Given the description of an element on the screen output the (x, y) to click on. 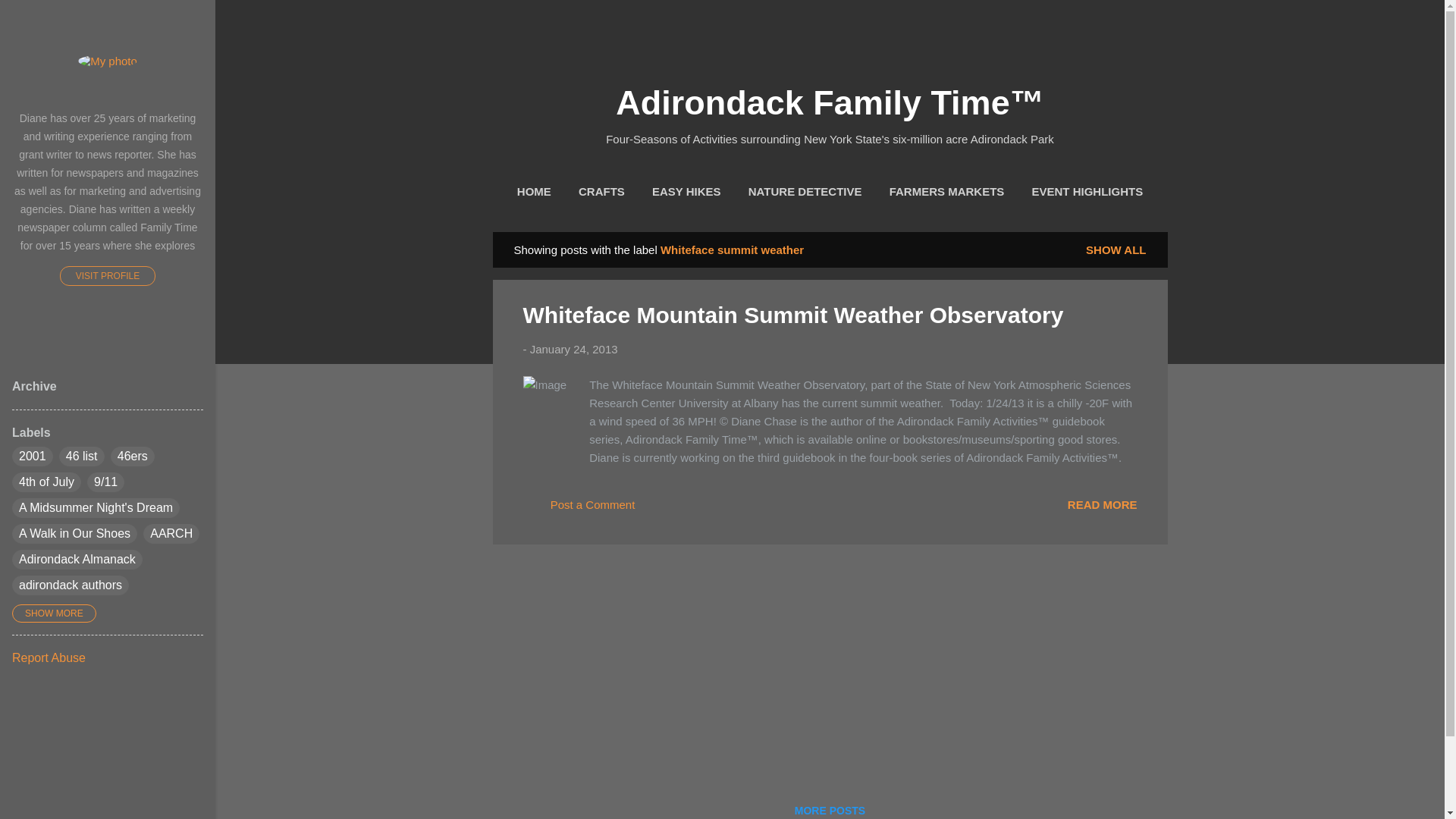
Post a Comment (578, 509)
MORE POSTS (829, 808)
More posts (829, 808)
permanent link (573, 349)
SHOW ALL (1115, 249)
Search (29, 18)
EASY HIKES (686, 192)
FARMERS MARKETS (946, 192)
READ MORE (1102, 503)
Whiteface Mountain Summit Weather Observatory (1102, 503)
CRAFTS (601, 192)
EVENT HIGHLIGHTS (1086, 192)
NATURE DETECTIVE (804, 192)
HOME (534, 192)
VISIT PROFILE (107, 275)
